Given the description of an element on the screen output the (x, y) to click on. 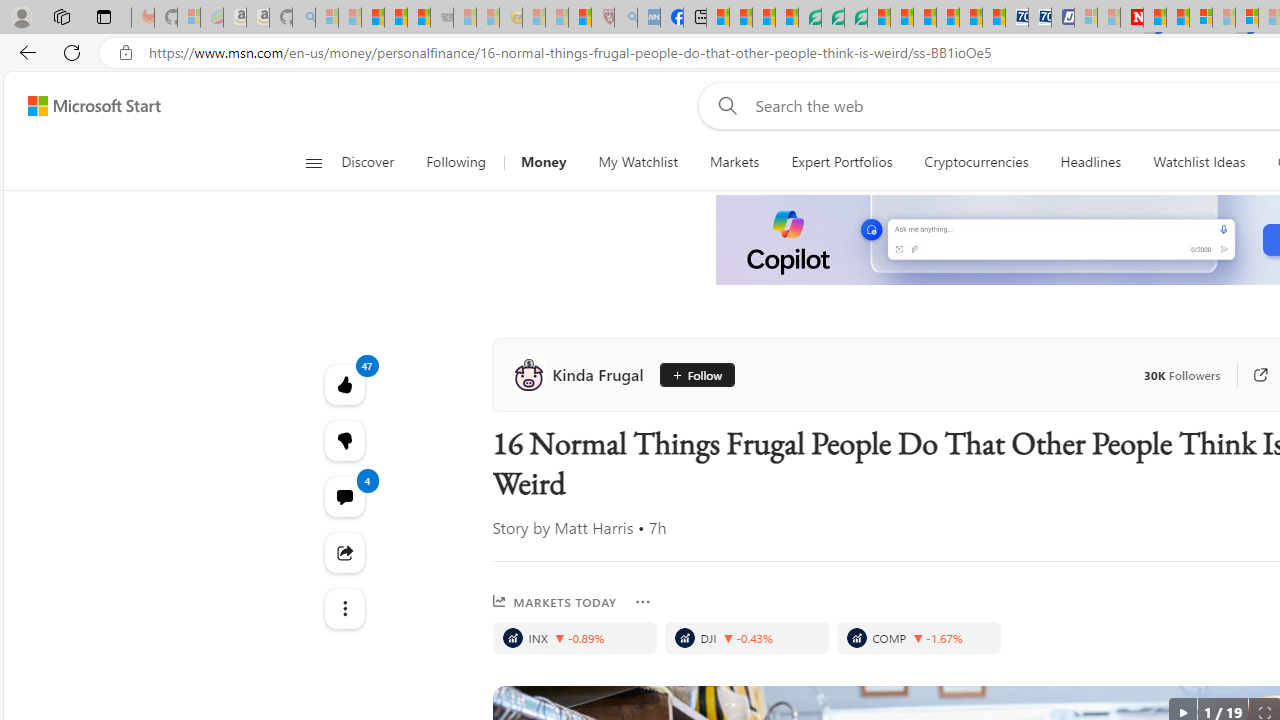
Web search (724, 105)
14 Common Myths Debunked By Scientific Facts (1178, 17)
The Weather Channel - MSN (372, 17)
Microsoft Start - Sleeping (1108, 17)
Class: at-item (343, 609)
Discover (375, 162)
Terms of Use Agreement (832, 17)
